Given the description of an element on the screen output the (x, y) to click on. 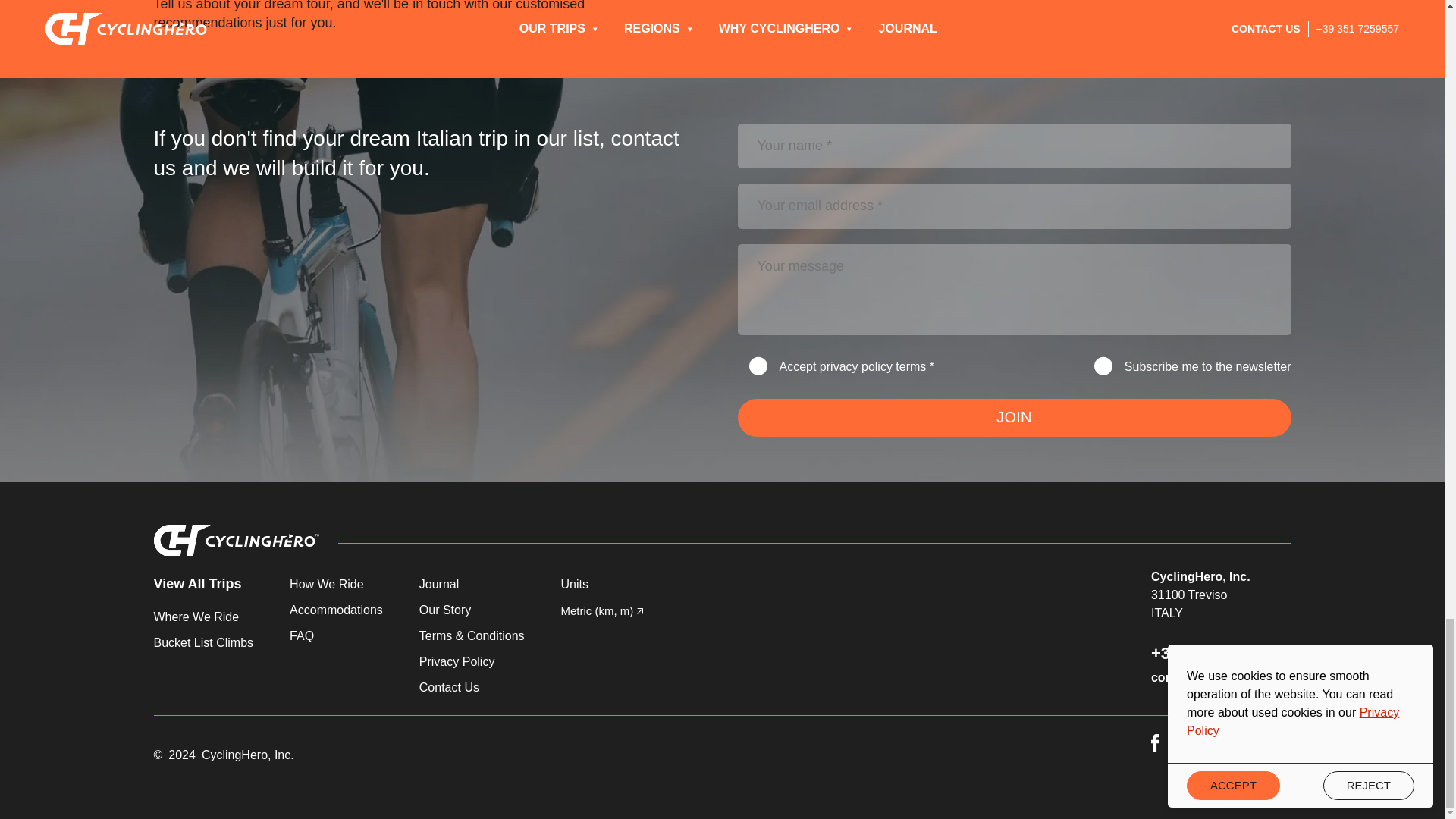
false (758, 365)
Bucket List Climbs (202, 642)
false (1103, 365)
JOIN (1013, 417)
View All Trips (202, 584)
privacy policy (855, 366)
Our Story (471, 610)
FAQ (335, 636)
Accommodations (335, 610)
Journal (471, 584)
How We Ride (335, 584)
Where We Ride (202, 617)
